Given the description of an element on the screen output the (x, y) to click on. 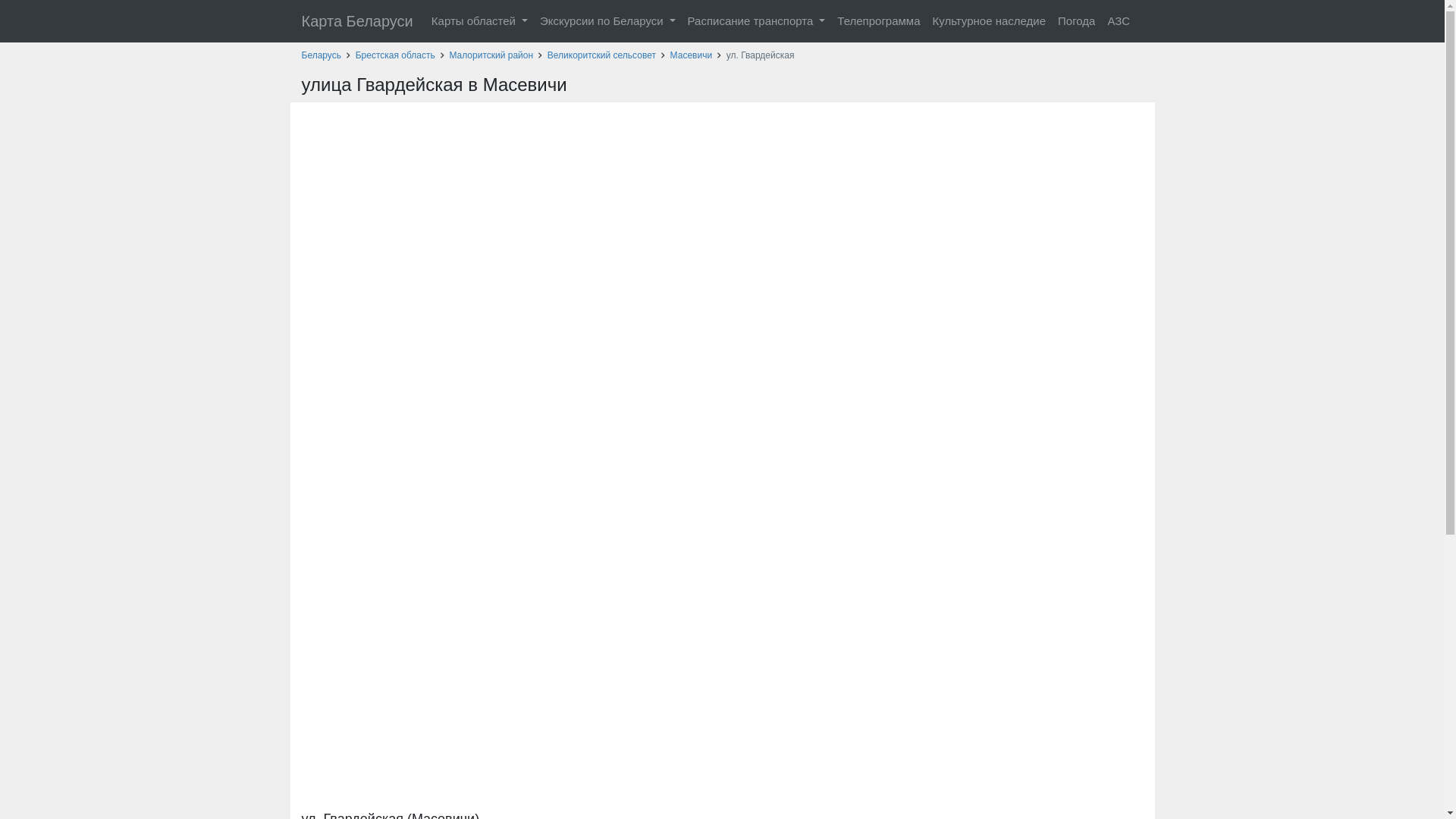
Advertisement Element type: hover (721, 136)
Advertisement Element type: hover (721, 693)
